Given the description of an element on the screen output the (x, y) to click on. 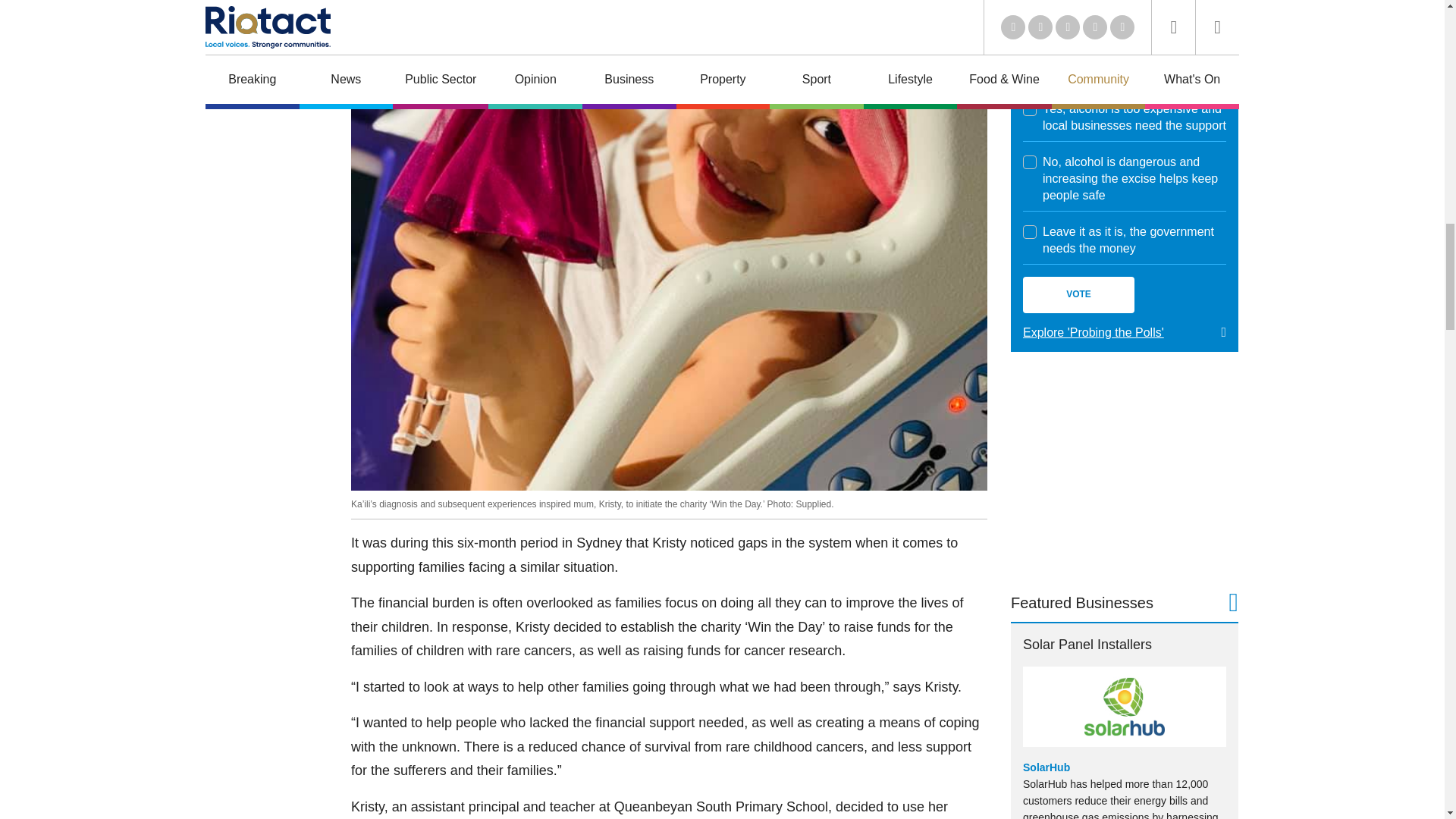
3rd party ad content (1124, 470)
2047 (1029, 161)
   Vote    (1078, 294)
2046 (1029, 109)
2048 (1029, 232)
